Given the description of an element on the screen output the (x, y) to click on. 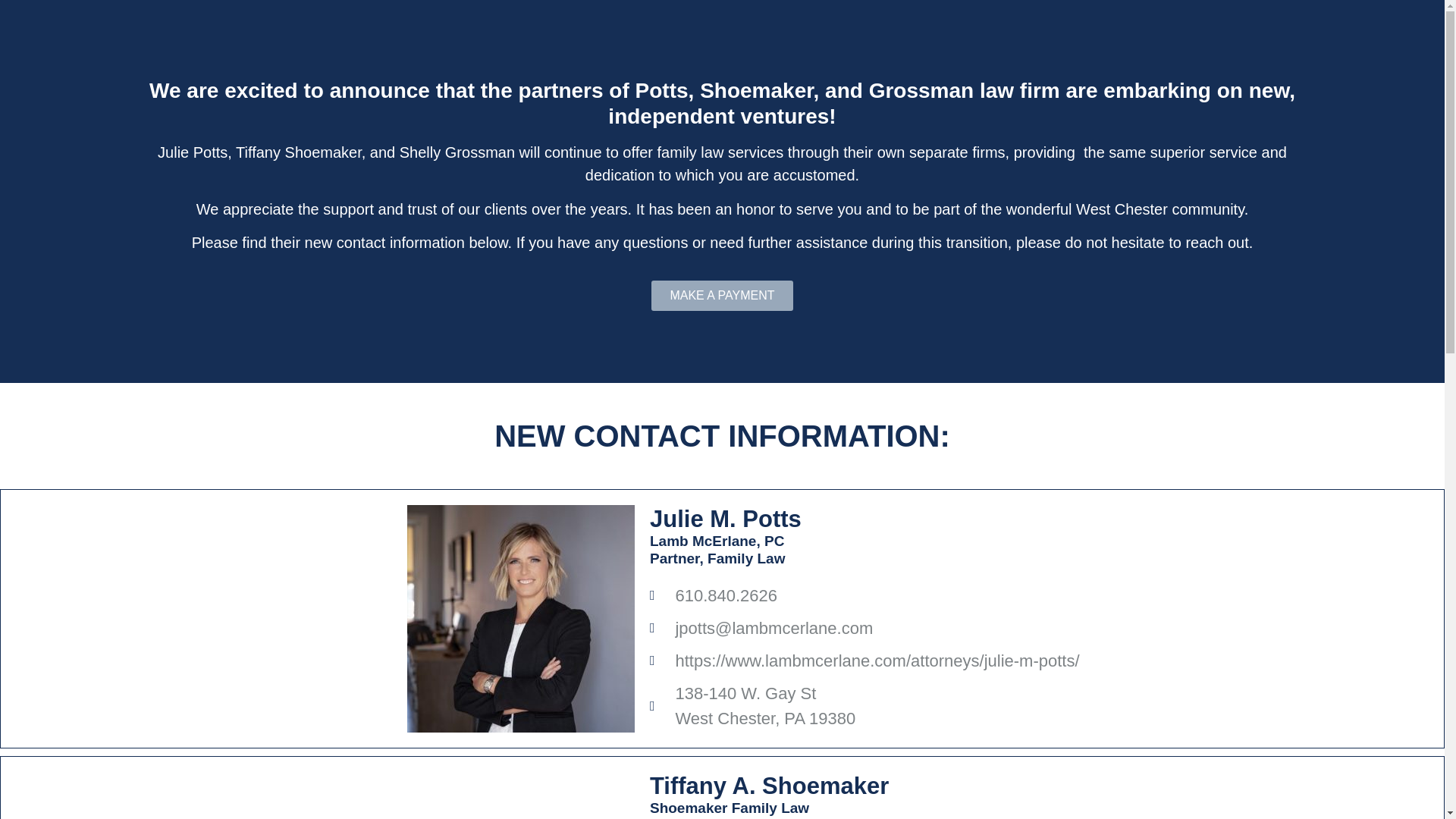
MAKE A PAYMENT (721, 295)
610.840.2626 (989, 595)
